Given the description of an element on the screen output the (x, y) to click on. 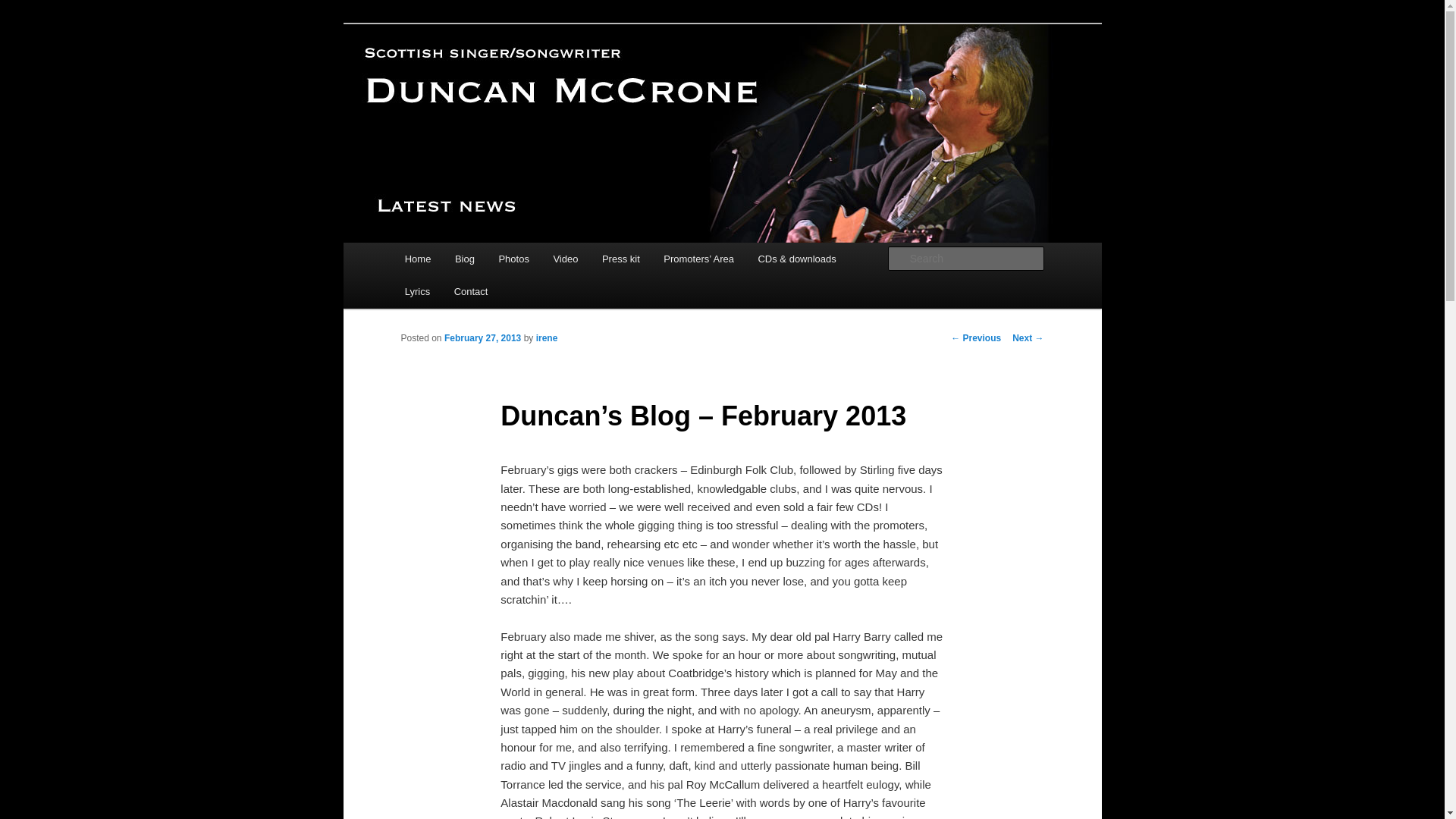
Duncan McCrone (494, 78)
Press kit (619, 258)
Home (417, 258)
View all posts by irene (546, 337)
Contact (470, 291)
February 27, 2013 (482, 337)
Biog (464, 258)
Lyrics (417, 291)
irene (546, 337)
